Given the description of an element on the screen output the (x, y) to click on. 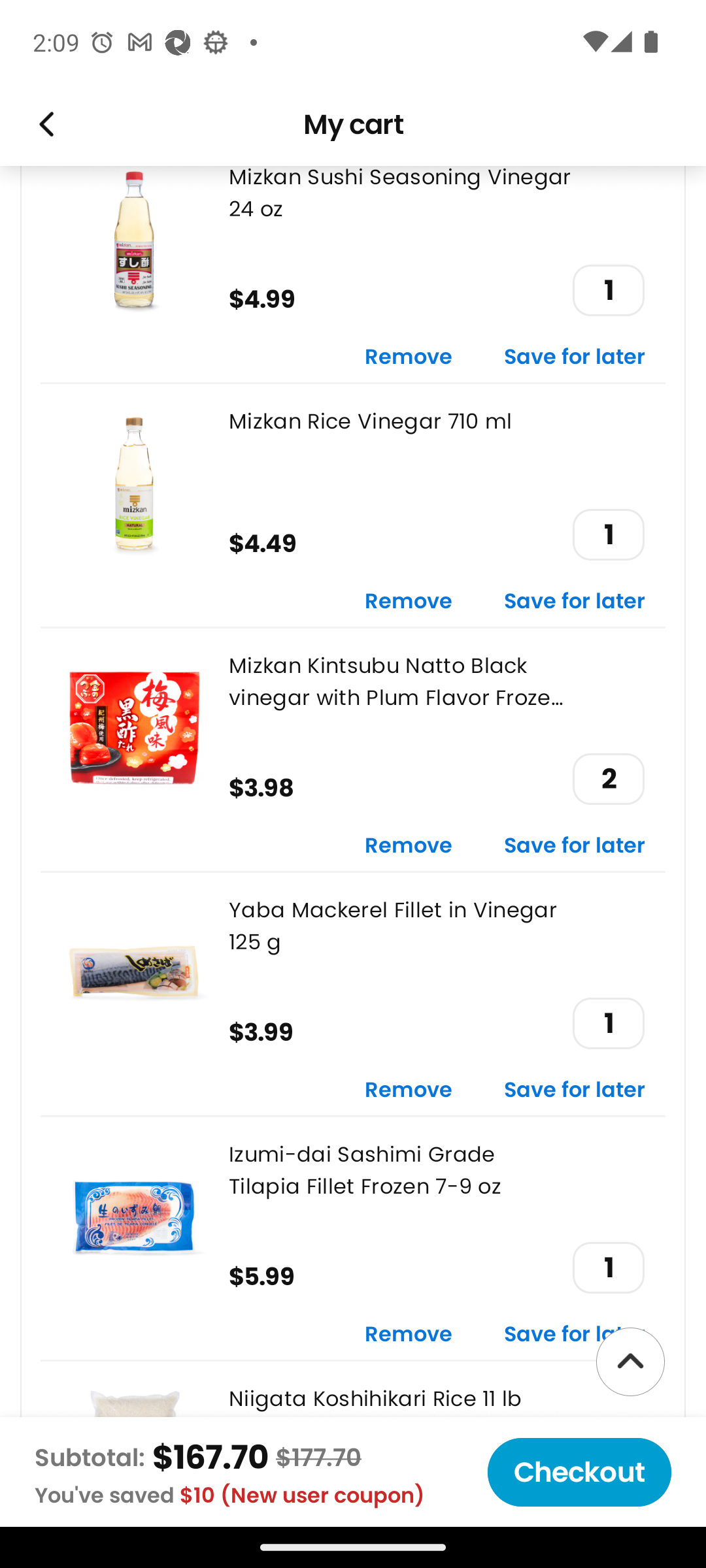
1 (608, 290)
Remove (408, 357)
Save for later (574, 357)
1 (608, 535)
Remove (408, 602)
Save for later (574, 602)
2 (608, 778)
Remove (408, 845)
Save for later (574, 845)
1 (608, 1022)
Remove (408, 1090)
Save for later (574, 1090)
1 (608, 1267)
Remove (408, 1334)
Save for later (574, 1334)
Checkout (579, 1471)
